Given the description of an element on the screen output the (x, y) to click on. 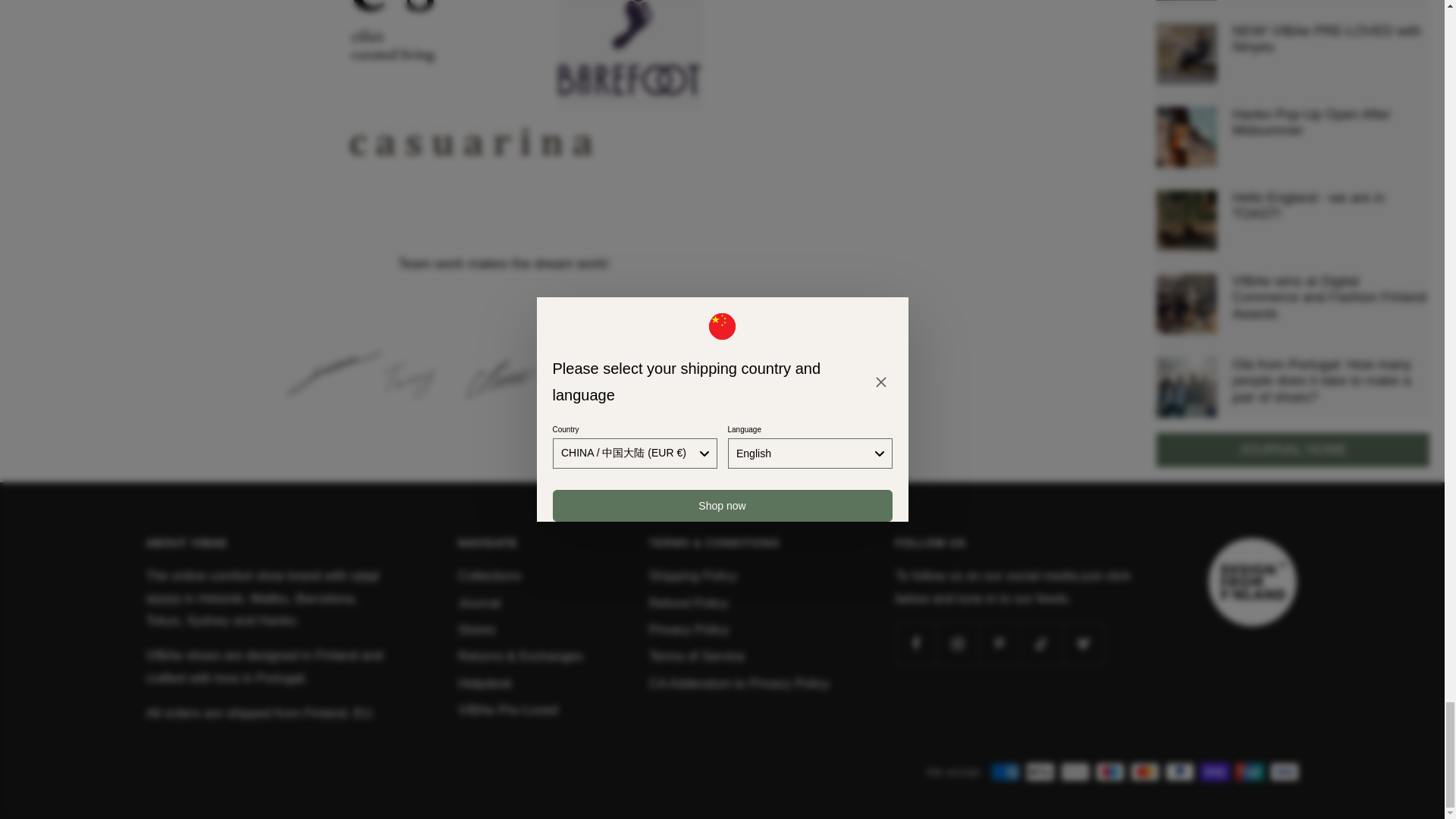
retail stores (261, 586)
Collections (489, 576)
Stores (476, 629)
Journal (479, 603)
